Given the description of an element on the screen output the (x, y) to click on. 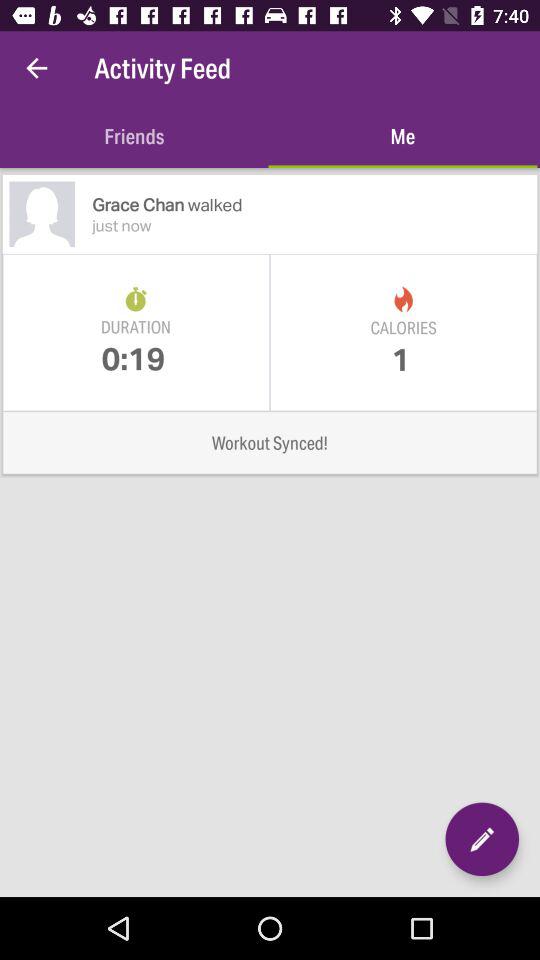
open item to the left of the activity feed icon (36, 68)
